Given the description of an element on the screen output the (x, y) to click on. 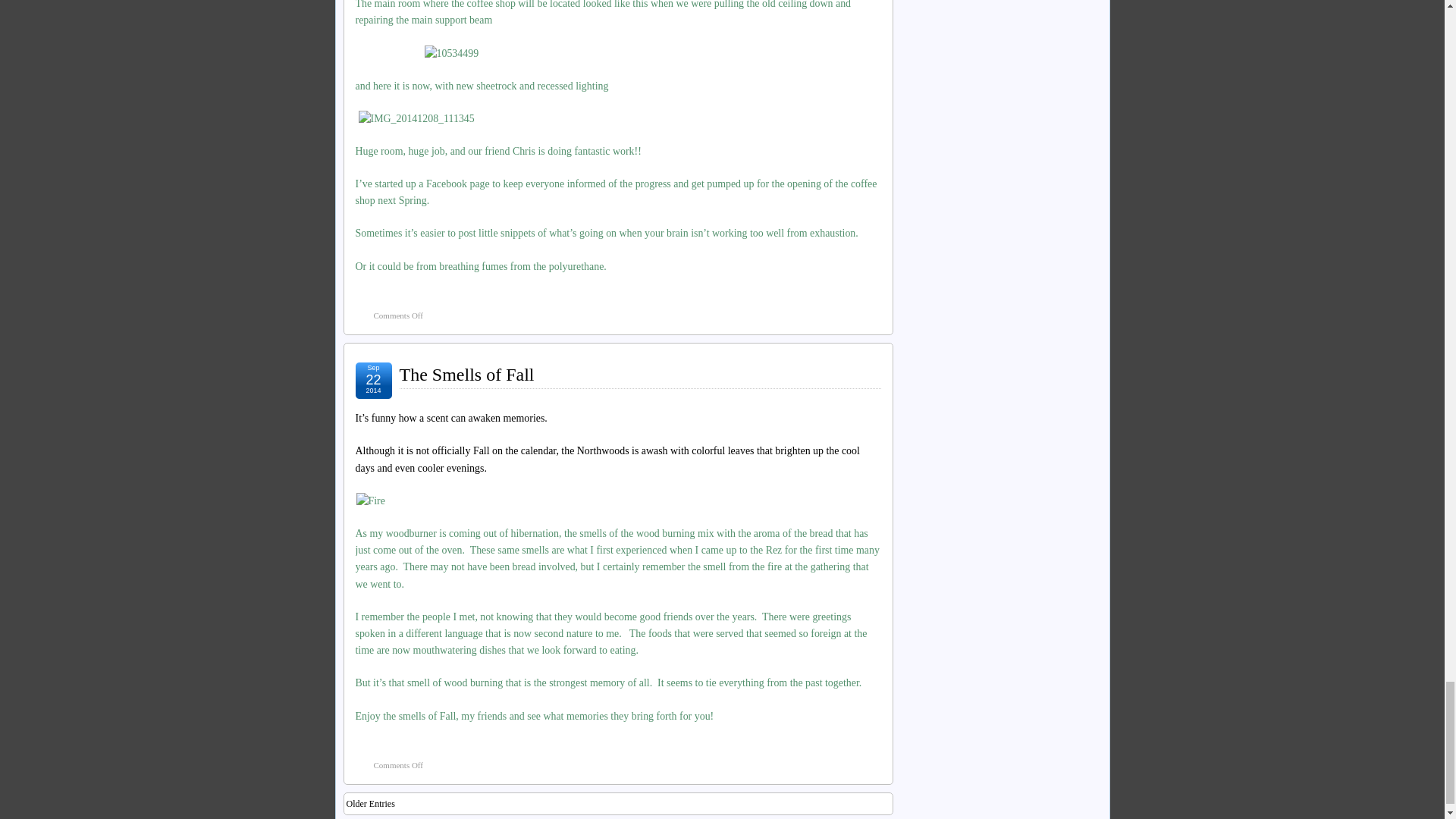
The Smells of Fall (466, 374)
